Given the description of an element on the screen output the (x, y) to click on. 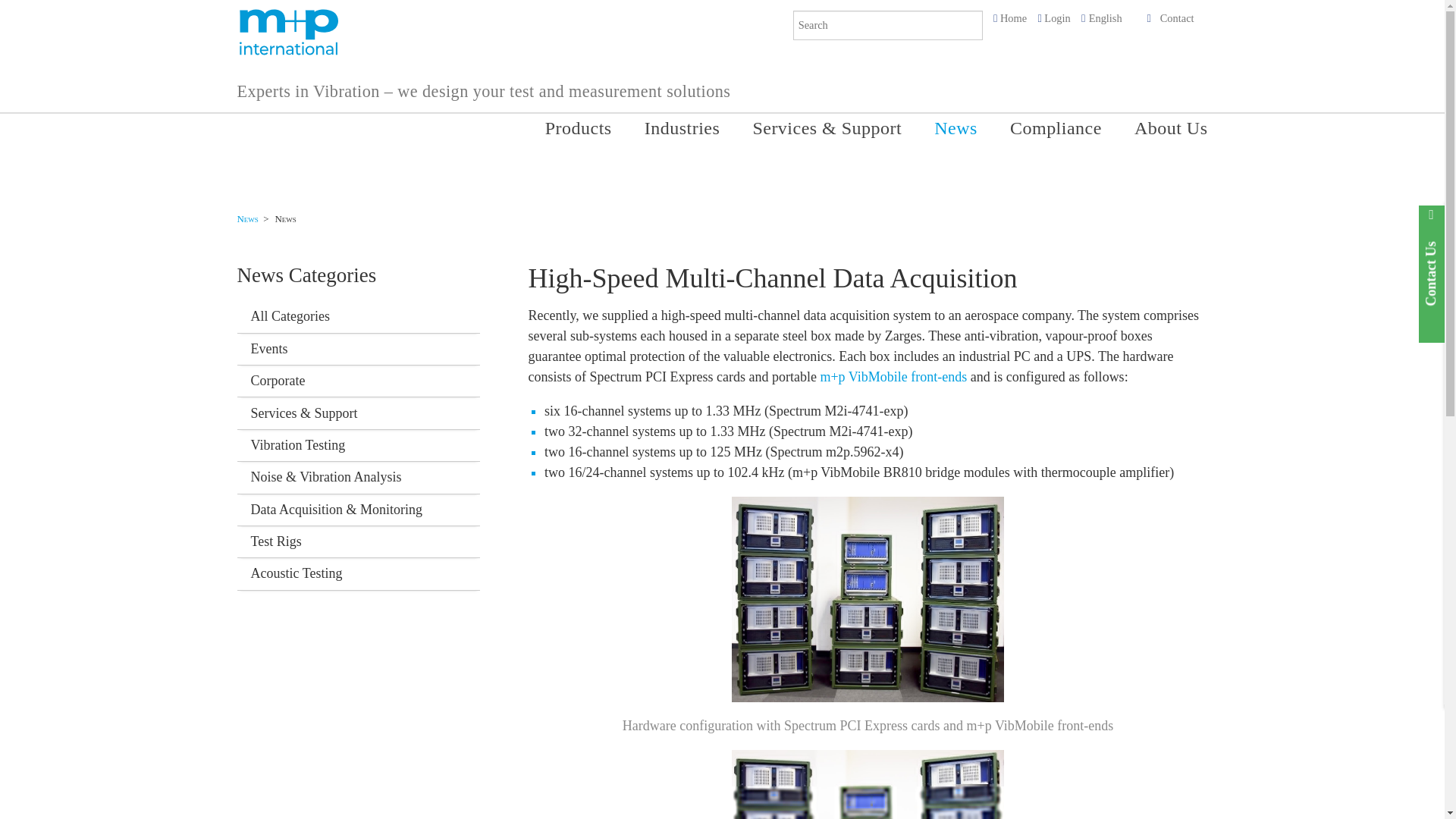
English (1105, 18)
Skip navigation (536, 120)
Products (576, 132)
Events (357, 348)
Home (1013, 18)
All Categories (357, 316)
Login (1056, 18)
Vibration Testing (357, 445)
Protected in steel boxes by Zarges (867, 784)
Contact (1176, 18)
